Given the description of an element on the screen output the (x, y) to click on. 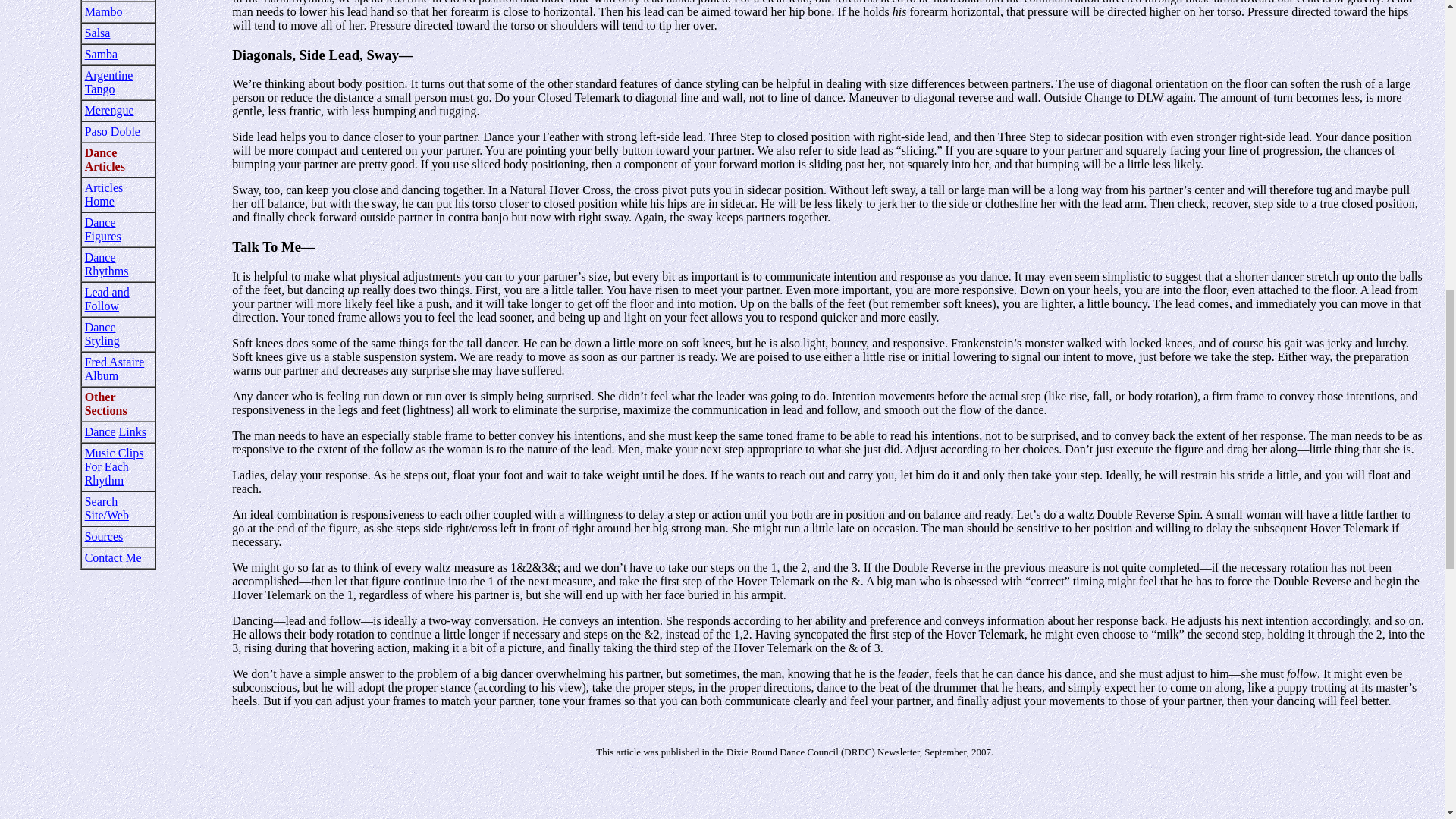
Paso Doble (111, 131)
Dance Rhythms (106, 263)
Samba (100, 53)
Lead and Follow (106, 298)
Fred Astaire Album (114, 368)
Merengue (108, 110)
Dance Styling (101, 334)
Dance Figures (102, 229)
Mambo (103, 11)
Dance (100, 431)
Salsa (97, 32)
Argentine Tango (108, 81)
Articles Home (103, 194)
